Given the description of an element on the screen output the (x, y) to click on. 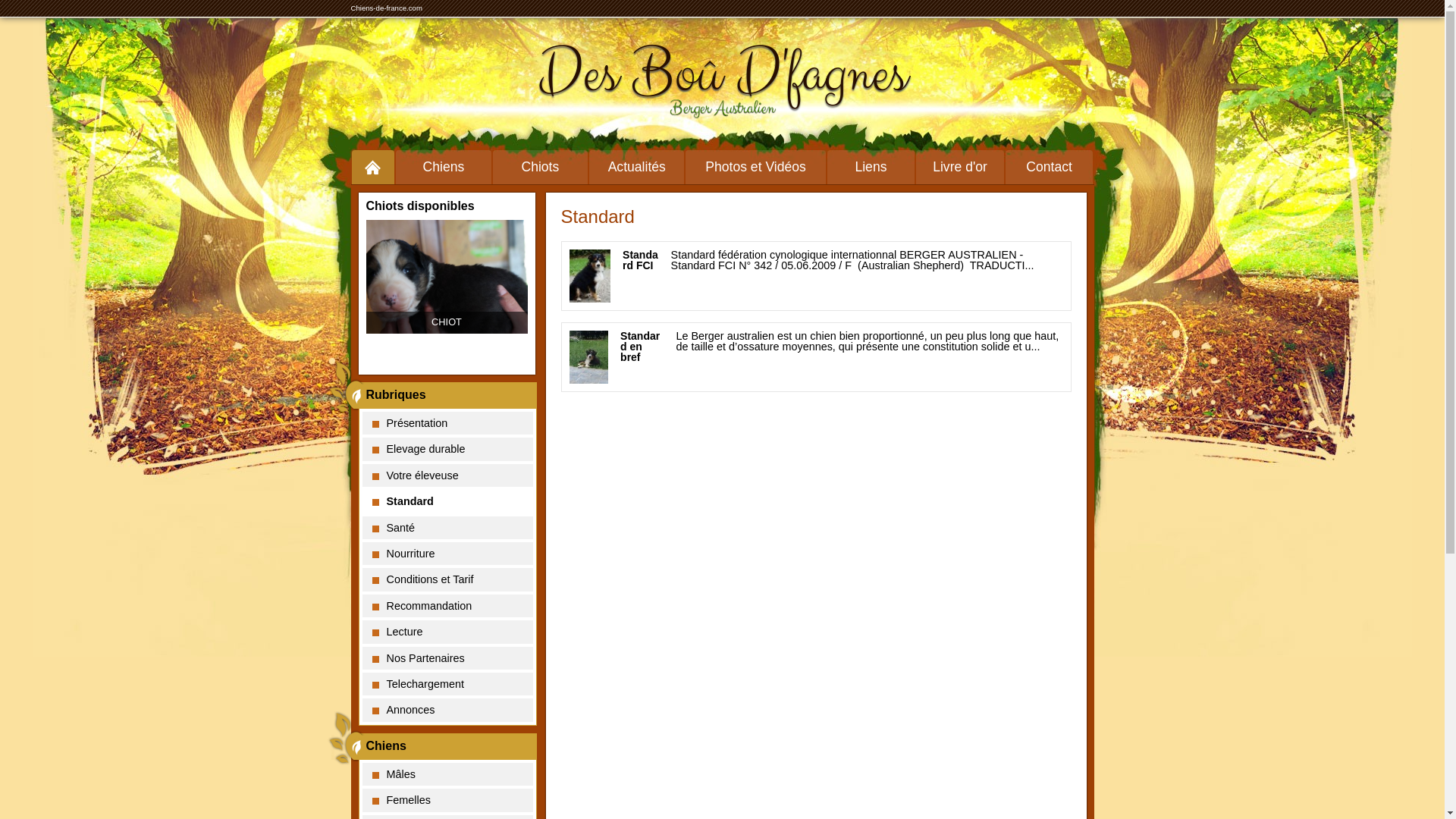
Conditions et Tarif Element type: text (447, 578)
Livre d'or Element type: text (960, 167)
Nourriture Element type: text (447, 553)
CHIOT Element type: text (446, 276)
Chiens Element type: text (442, 167)
Elevage durable Element type: text (447, 448)
Accueil Element type: hover (373, 167)
Liens Element type: text (871, 167)
Chiens-de-france.com Element type: text (385, 8)
Recommandation Element type: text (447, 605)
Lecture Element type: text (447, 631)
Annonces Element type: text (447, 709)
Telechargement Element type: text (447, 683)
Contact Element type: text (1049, 167)
Standard Element type: text (447, 500)
Chiots Element type: text (539, 167)
Femelles Element type: text (447, 799)
Nos Partenaires Element type: text (447, 657)
